Given the description of an element on the screen output the (x, y) to click on. 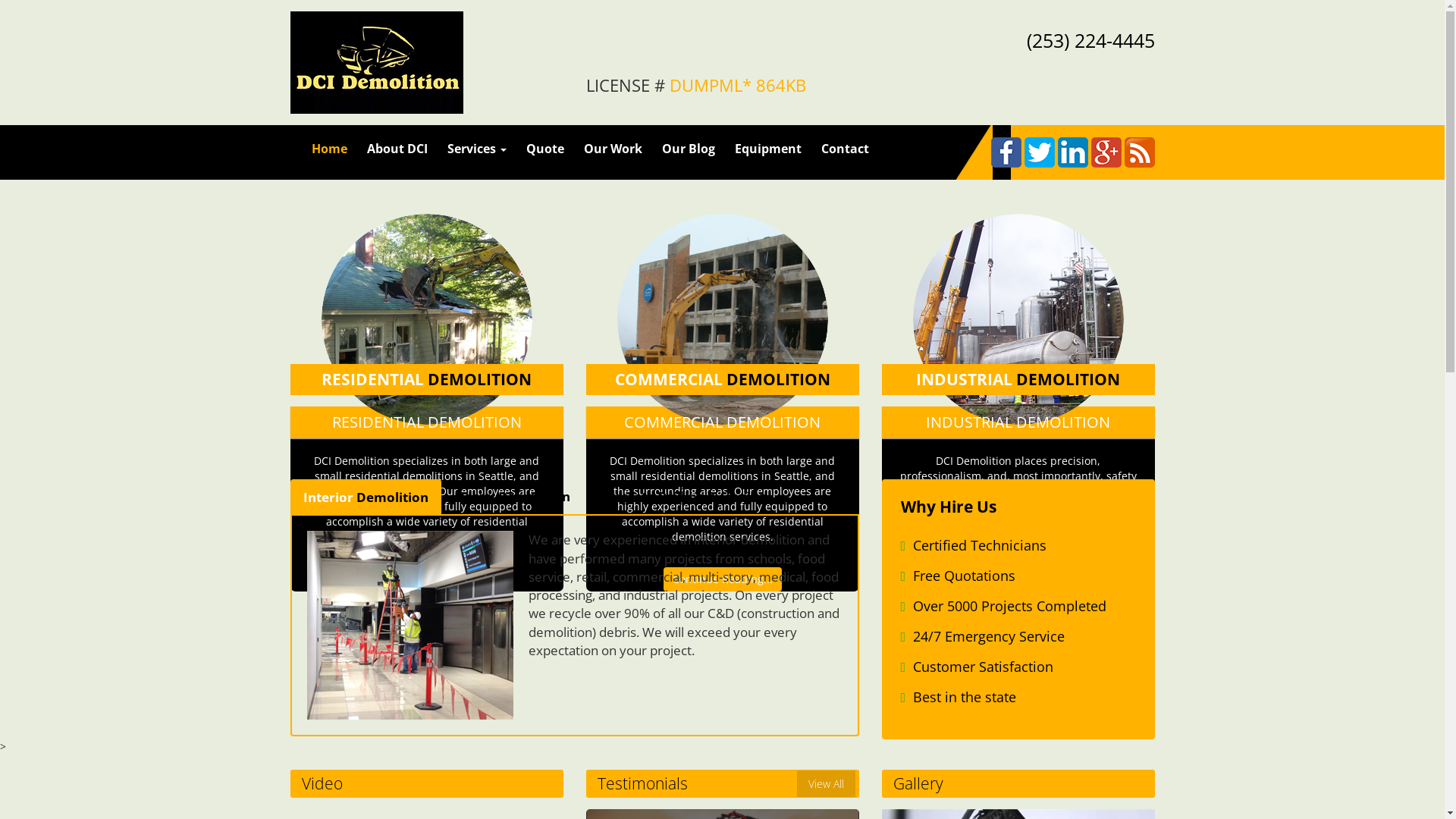
Equipment Element type: text (767, 148)
View All Element type: text (825, 783)
Concrete Drilling & Sawing Element type: text (680, 496)
Quote Element type: text (544, 148)
Our Blog Element type: text (688, 148)
Continue Reading... Element type: text (426, 579)
Continue Reading... Element type: text (1017, 594)
Interior Demolition Element type: text (364, 496)
Our Work Element type: text (612, 148)
Heavy Demolition Element type: text (512, 496)
Continue Reading... Element type: text (721, 579)
About DCI Element type: text (396, 148)
Services Element type: text (475, 148)
Home
(current) Element type: text (329, 148)
Contact Element type: text (844, 148)
